Given the description of an element on the screen output the (x, y) to click on. 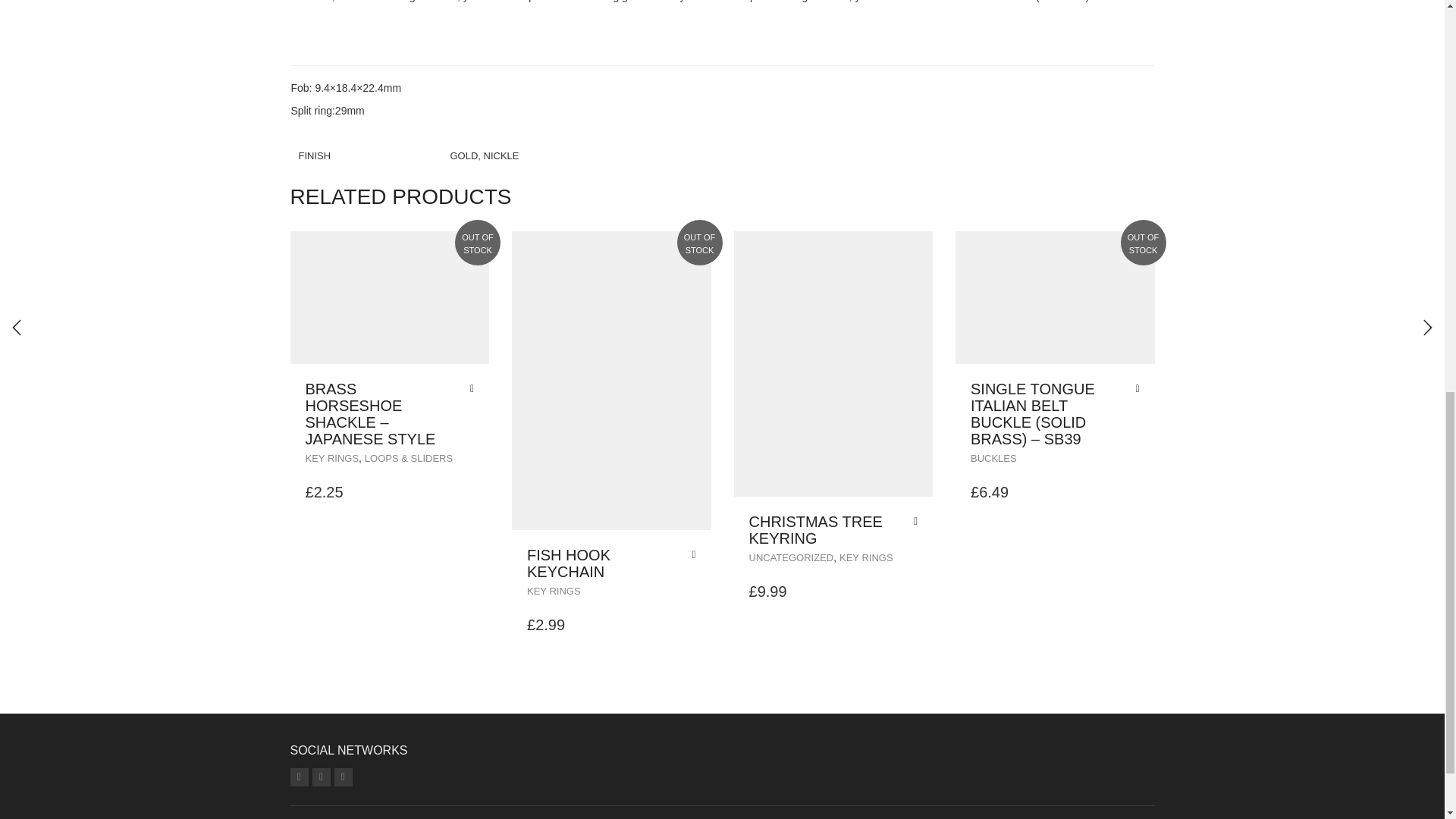
YouTube (321, 777)
Instagram (298, 777)
Facebook (342, 777)
